Given the description of an element on the screen output the (x, y) to click on. 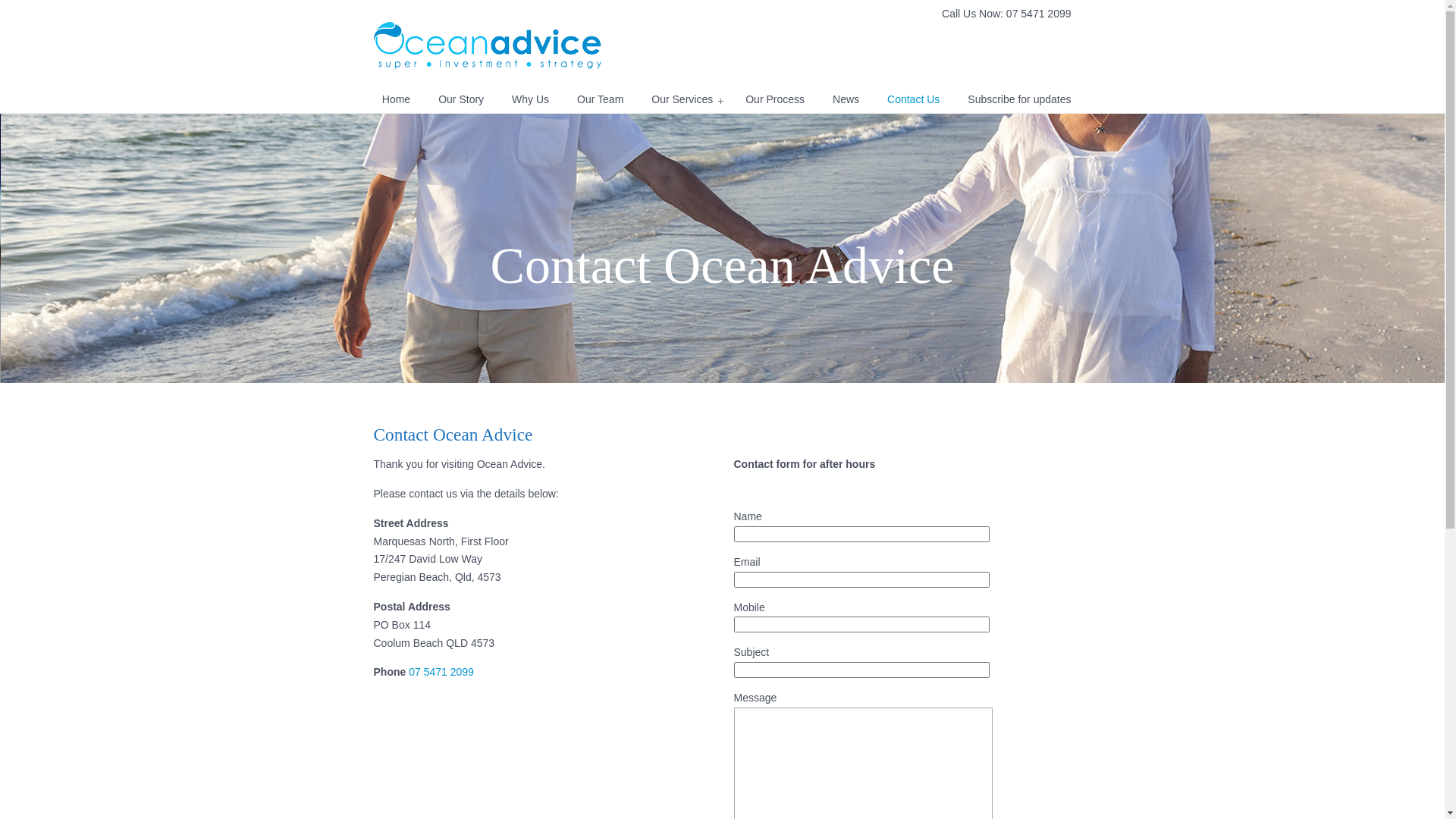
Subscribe for updates Element type: text (1018, 99)
News Element type: text (845, 99)
Why Us Element type: text (530, 99)
Home Element type: text (396, 99)
Our Team Element type: text (599, 99)
Our Services Element type: text (684, 99)
Our Process Element type: text (774, 99)
Contact Us Element type: text (913, 99)
07 5471 2099 Element type: text (439, 671)
Our Story Element type: text (460, 99)
